Given the description of an element on the screen output the (x, y) to click on. 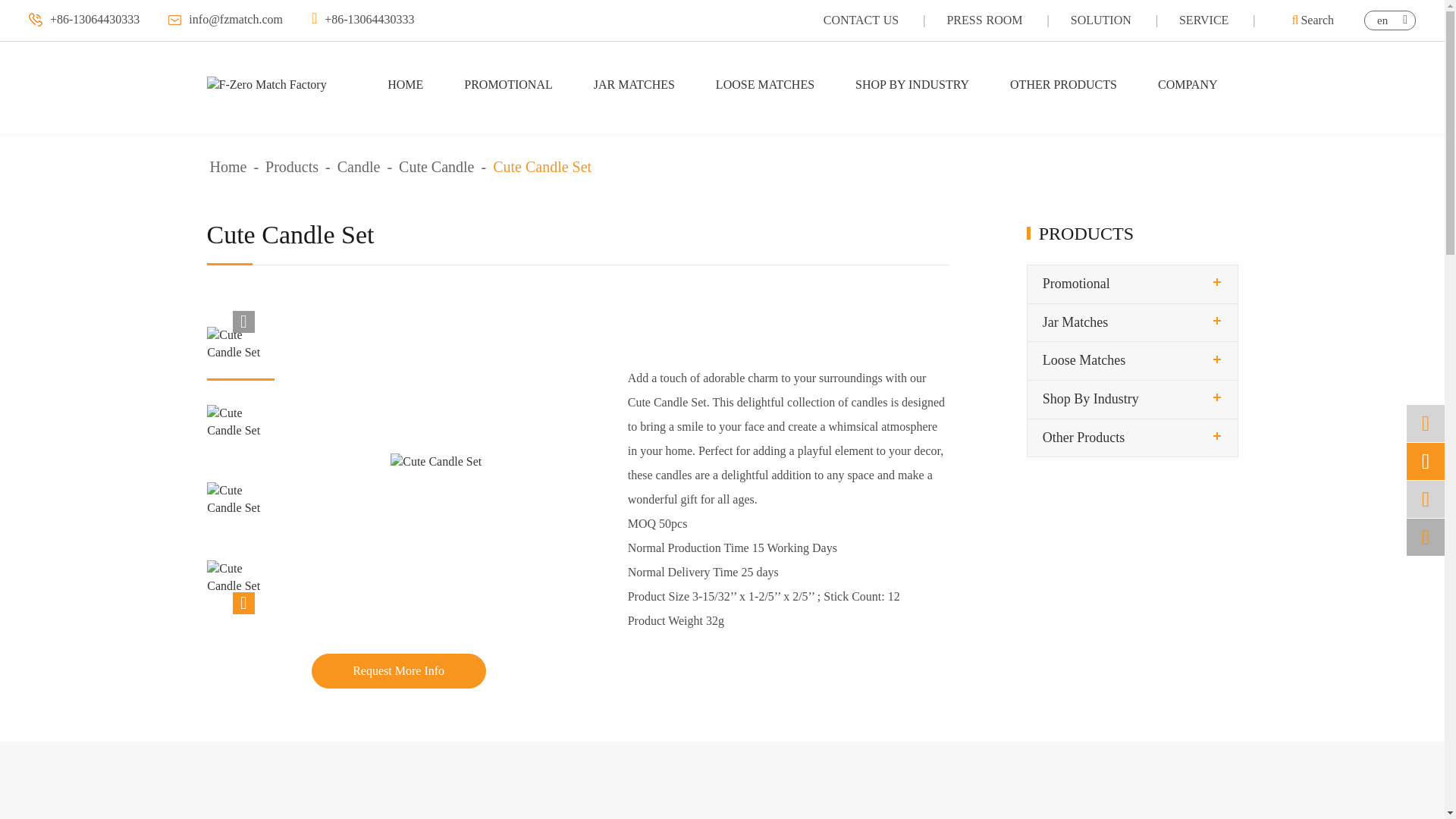
F-Zero Match Factory (266, 85)
HOME (405, 84)
PRESS ROOM (984, 19)
SERVICE (1203, 19)
JAR MATCHES (634, 84)
SOLUTION (1100, 19)
CONTACT US (861, 19)
submit (1222, 137)
PROMOTIONAL (507, 84)
